Given the description of an element on the screen output the (x, y) to click on. 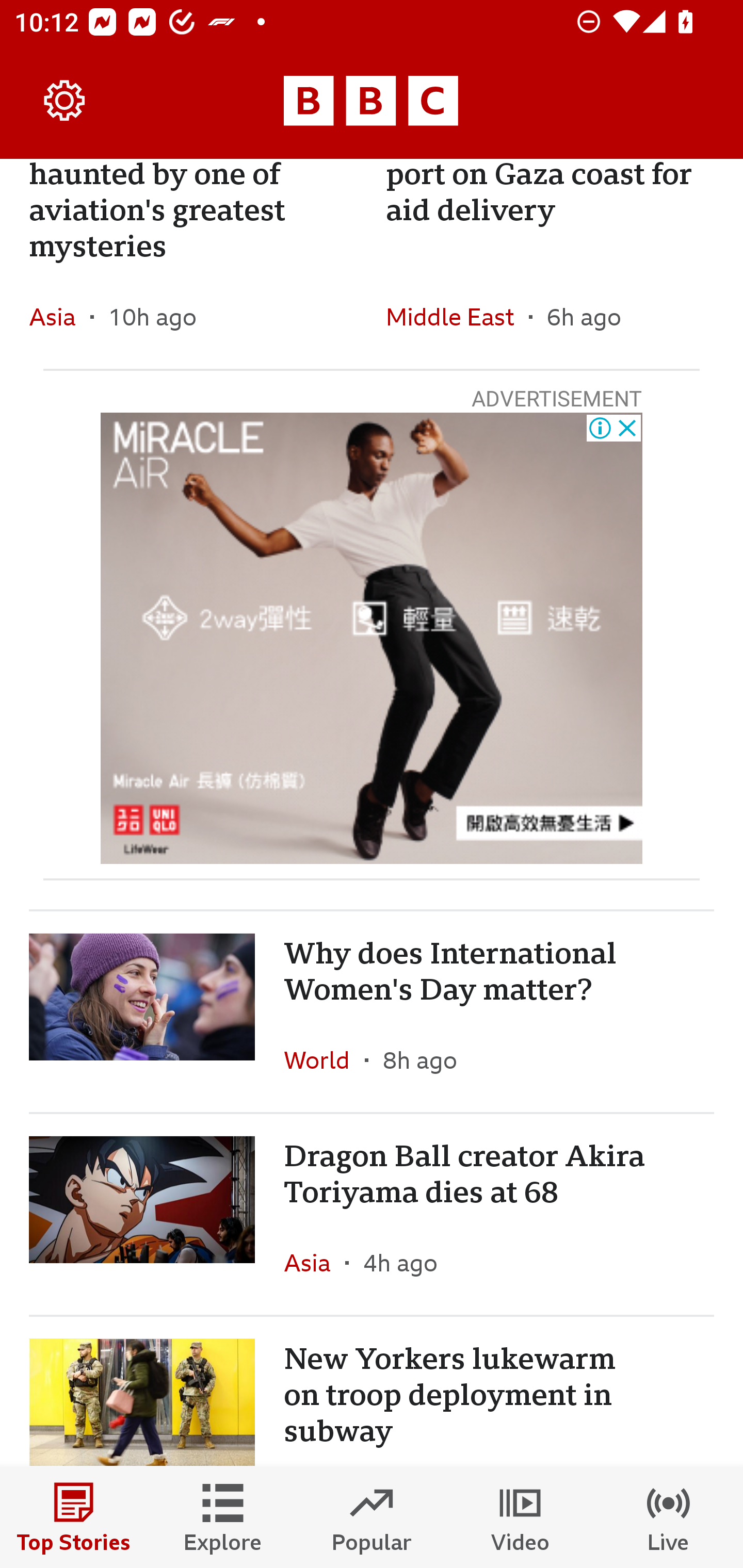
Settings (64, 100)
Asia In the section Asia (59, 316)
Middle East In the section Middle East (457, 316)
Advertisement (371, 637)
World In the section World (323, 1059)
Asia In the section Asia (314, 1261)
Explore (222, 1517)
Popular (371, 1517)
Video (519, 1517)
Live (668, 1517)
